Given the description of an element on the screen output the (x, y) to click on. 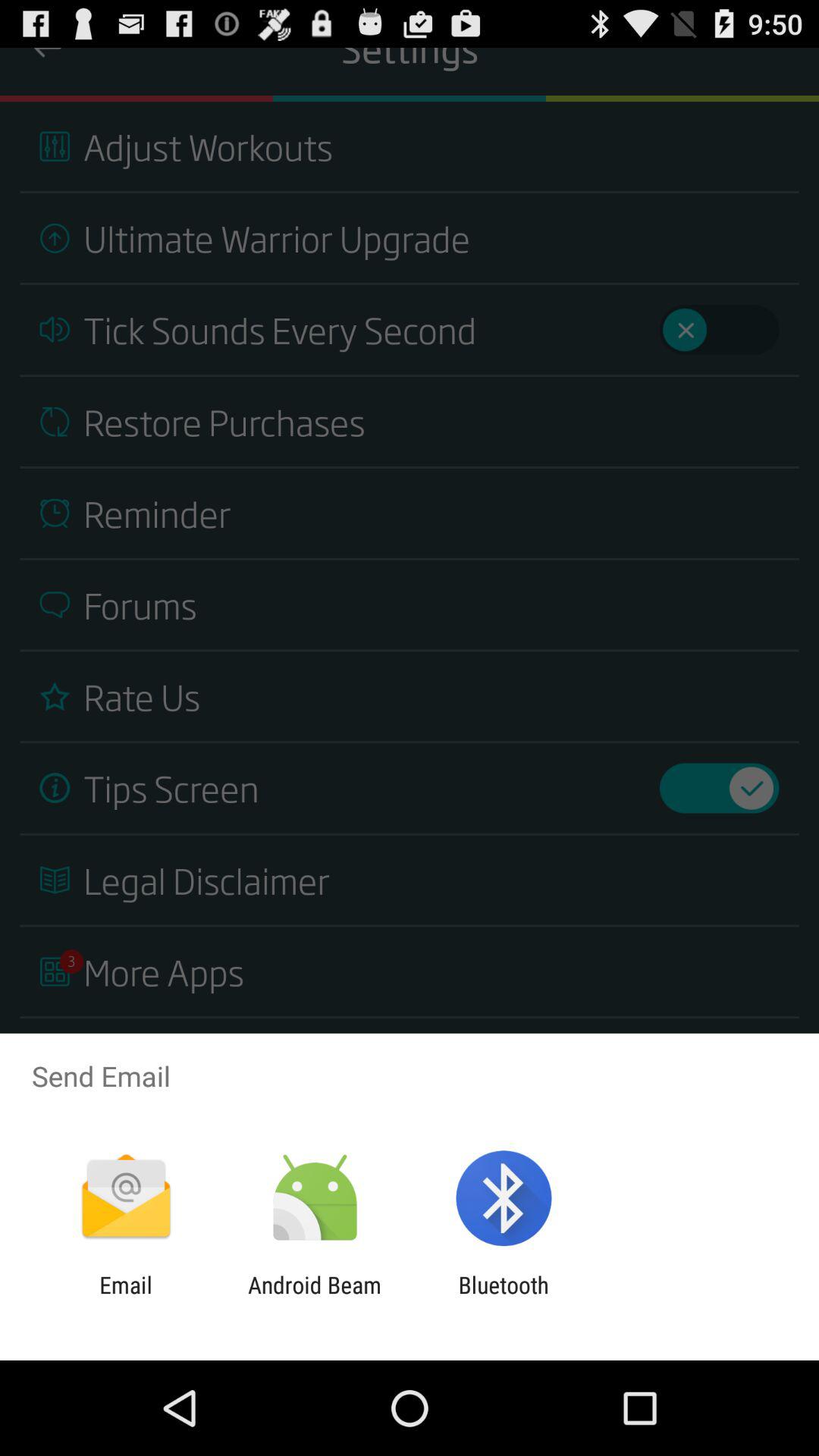
turn off icon to the left of bluetooth (314, 1298)
